Given the description of an element on the screen output the (x, y) to click on. 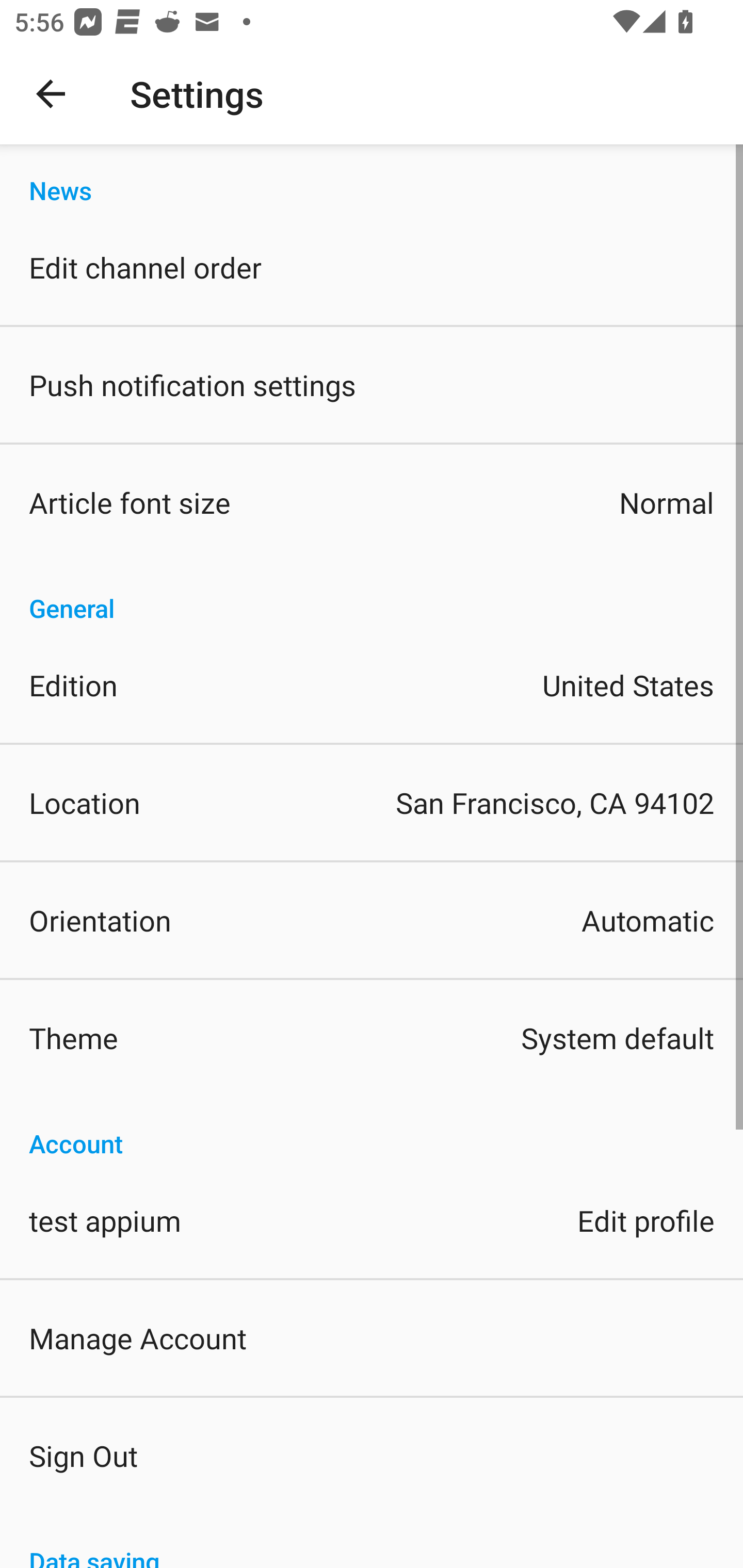
Navigate up (50, 93)
Edit channel order (371, 267)
Push notification settings (371, 384)
Article font size Normal (371, 502)
Edition United States (371, 685)
Location San Francisco, CA 94102 (371, 802)
Orientation Automatic (371, 920)
Theme System default (371, 1038)
test appium Edit profile (371, 1219)
Manage Account (371, 1337)
Sign Out (371, 1455)
